Given the description of an element on the screen output the (x, y) to click on. 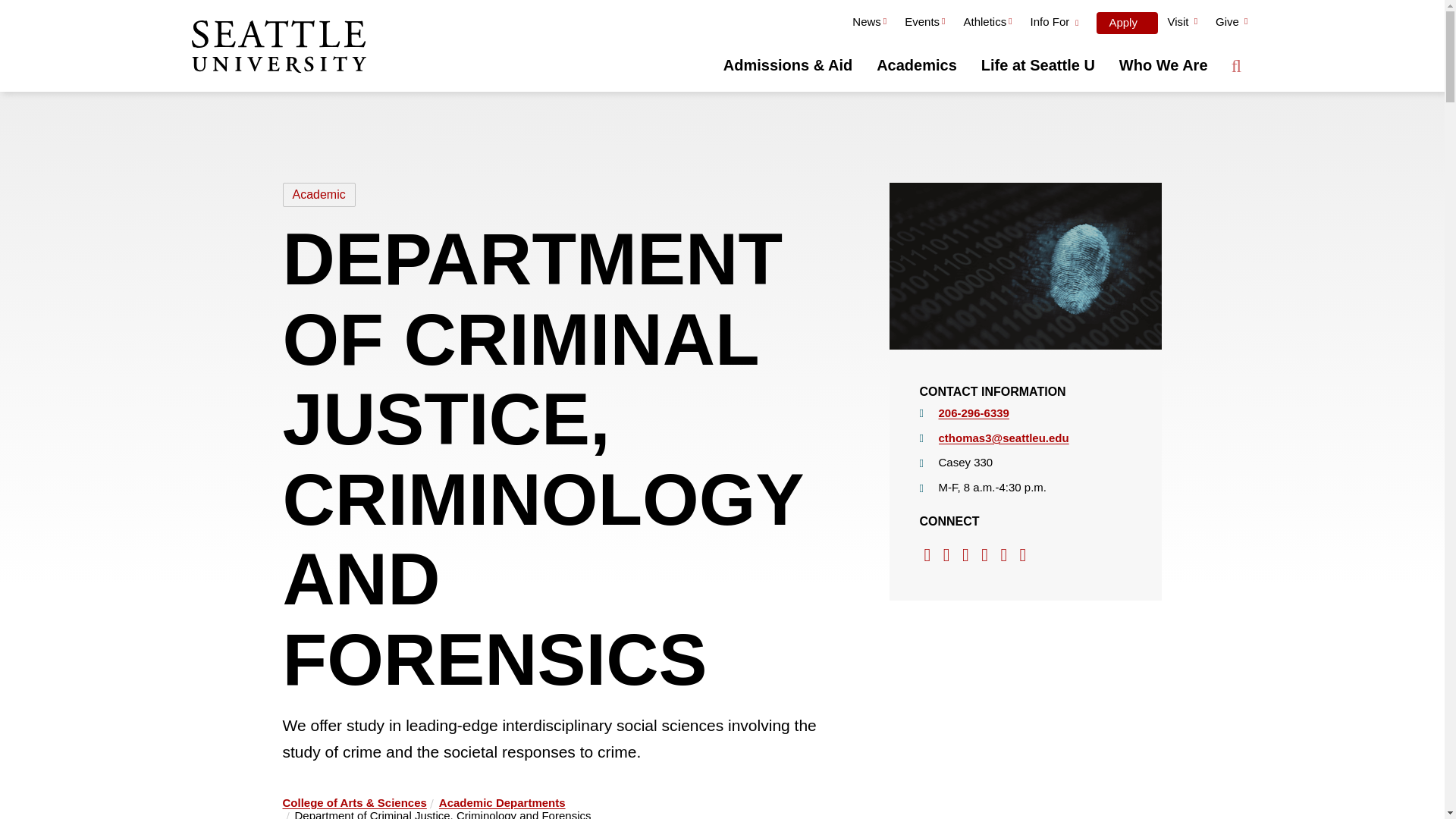
Athletics (986, 23)
Visit (1182, 23)
Academics (916, 65)
Events (924, 23)
Give (1231, 23)
Apply (1126, 23)
Life at Seattle U (1037, 65)
News (869, 23)
Click to visit the home page (277, 47)
